Given the description of an element on the screen output the (x, y) to click on. 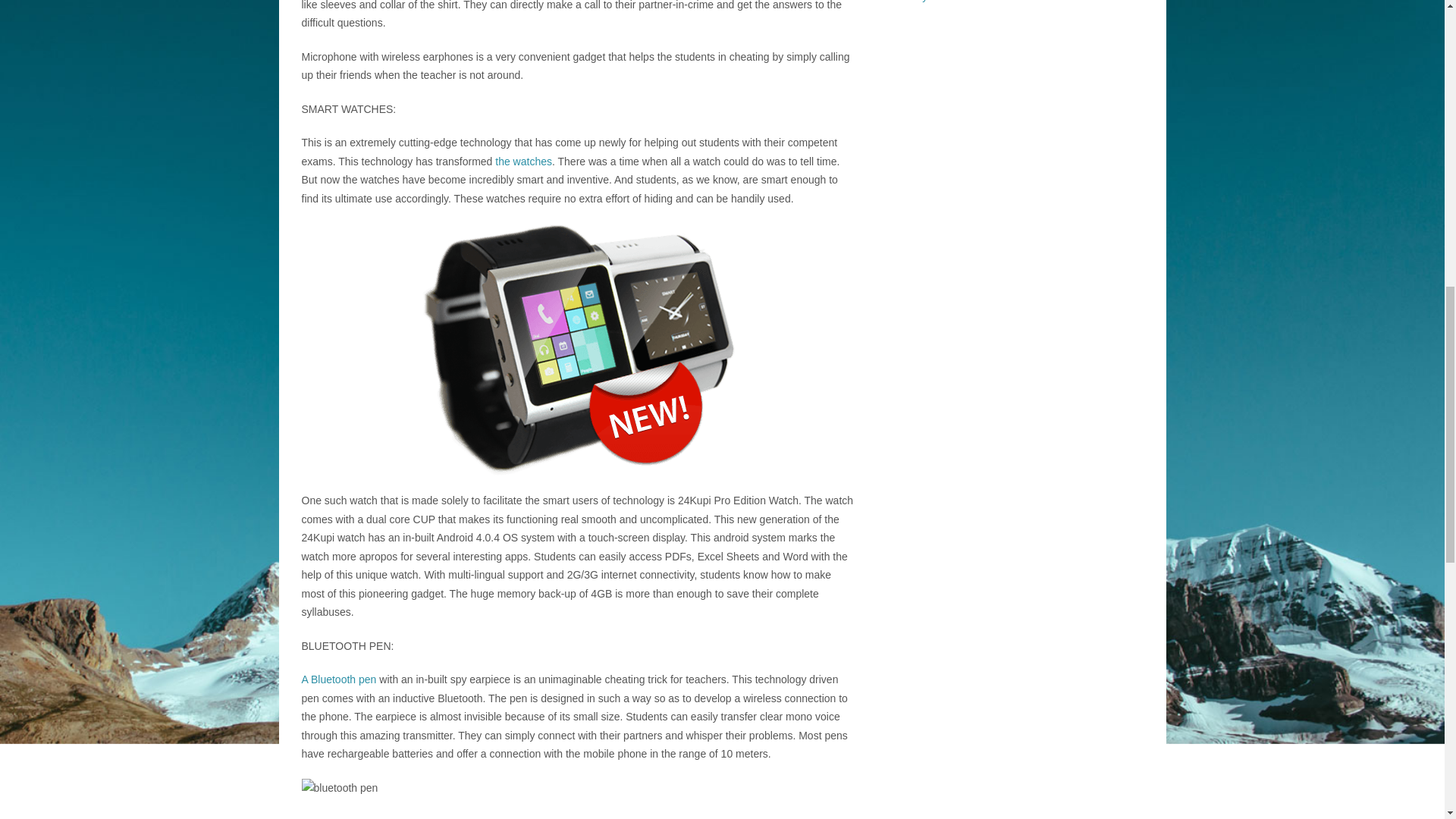
A Bluetooth pen (339, 679)
January 2015 (922, 1)
the watches (523, 160)
